Given the description of an element on the screen output the (x, y) to click on. 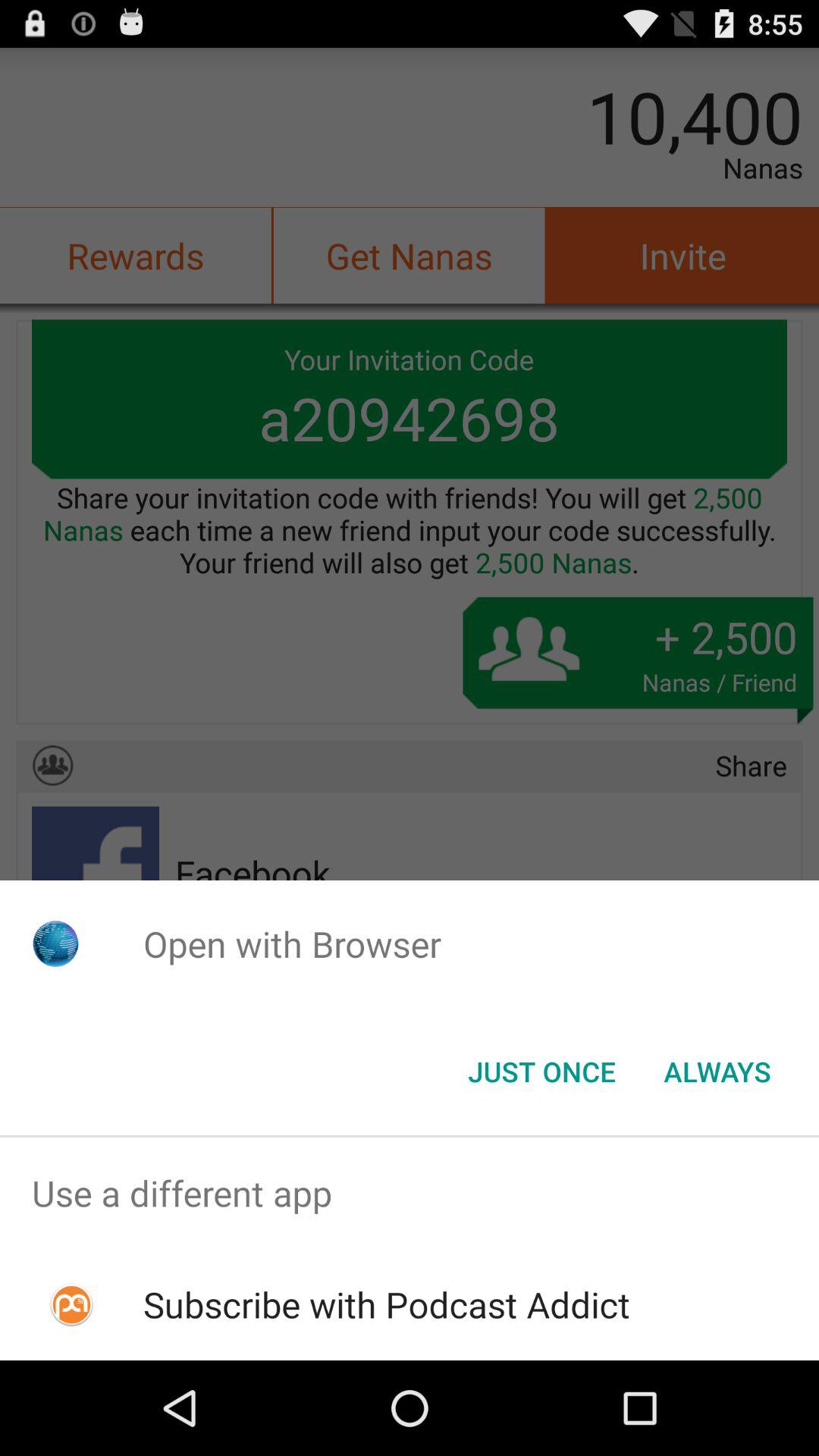
jump to always button (717, 1071)
